Given the description of an element on the screen output the (x, y) to click on. 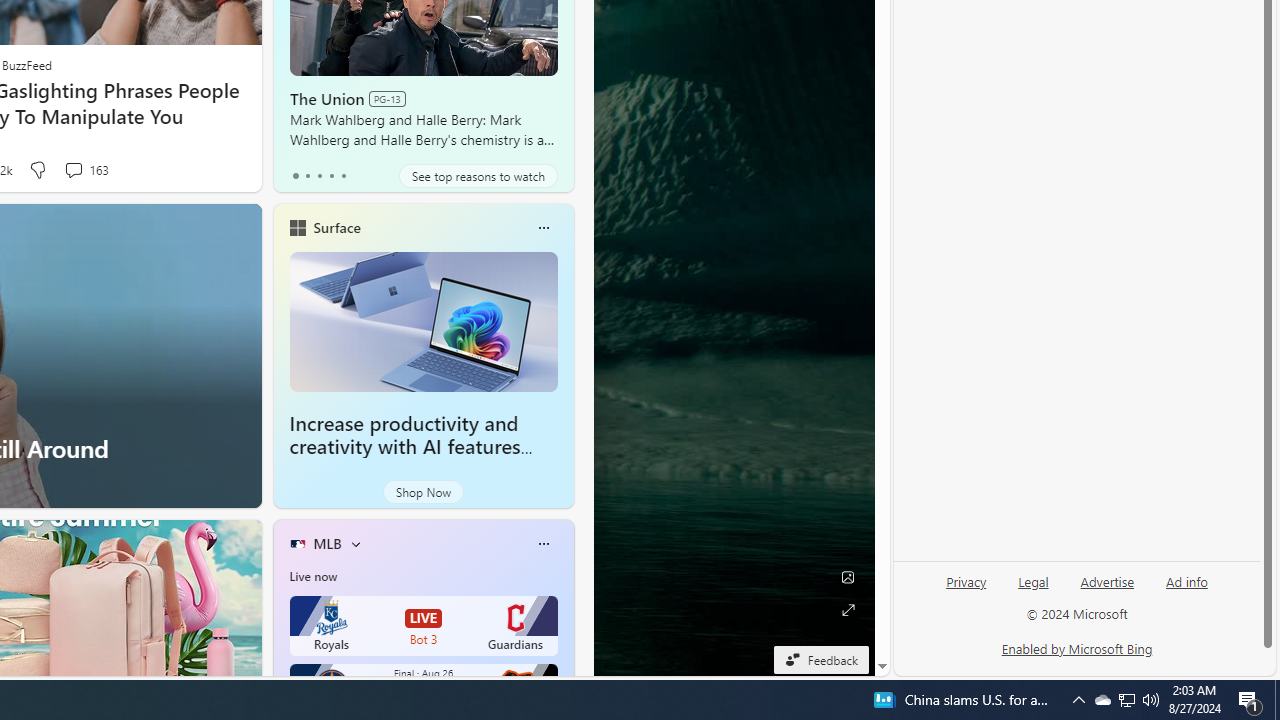
tab-4 (342, 175)
Edit Background (847, 577)
tab-0 (295, 175)
tab-1 (306, 175)
MLB (327, 543)
Ad info (1187, 582)
tab-2 (319, 175)
Legal (1033, 582)
Class: icon-img (543, 543)
Ad info (1186, 589)
